Given the description of an element on the screen output the (x, y) to click on. 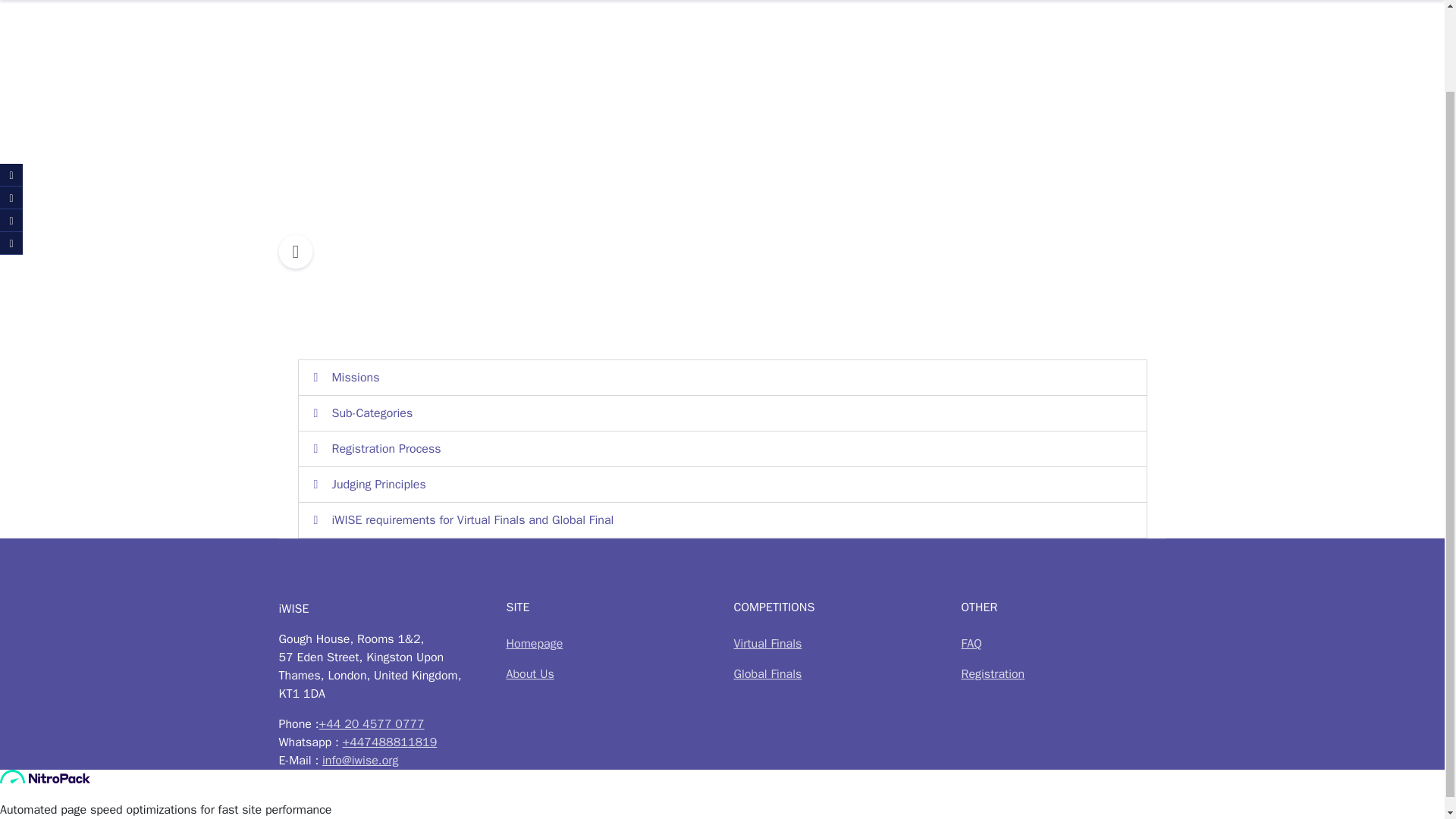
Go to iWISE. (290, 87)
Go to Categories. (347, 87)
Go to Stem Category. (422, 87)
